Given the description of an element on the screen output the (x, y) to click on. 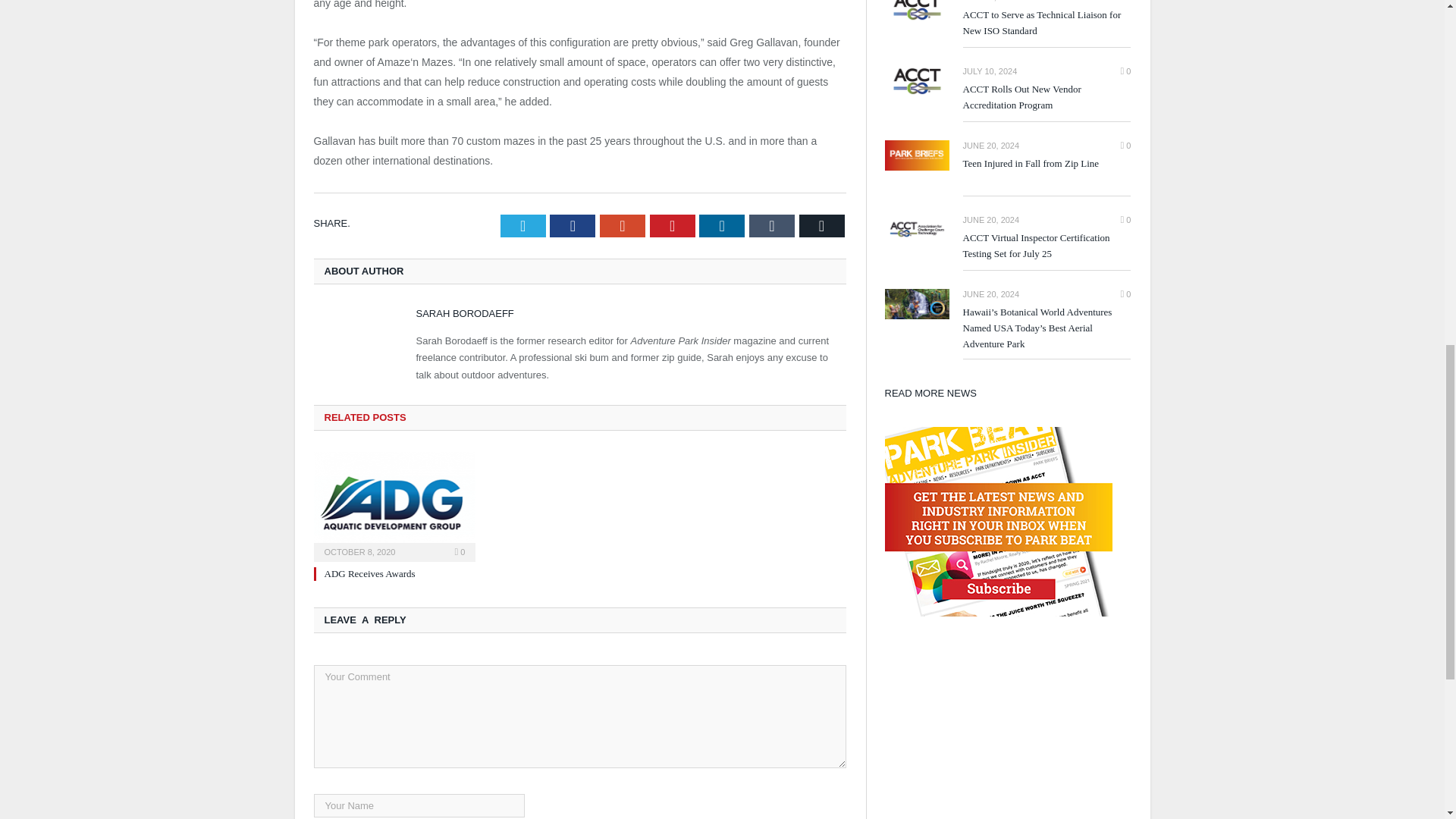
ACCT Rolls Out New Vendor Accreditation Program (1046, 97)
ACCT to Serve as Technical Liaison for New ISO Standard (916, 11)
ACCT Virtual Inspector Certification Testing Set for July 25 (916, 229)
Teen Injured in Fall from Zip Line (916, 155)
ADG Receives Awards (395, 504)
Posts by Sarah Borodaeff (463, 313)
Teen Injured in Fall from Zip Line (1046, 163)
ACCT to Serve as Technical Liaison for New ISO Standard (1046, 23)
ACCT Virtual Inspector Certification Testing Set for July 25 (1046, 246)
ACCT Rolls Out New Vendor Accreditation Program (916, 81)
ADG Receives Awards (369, 573)
